Given the description of an element on the screen output the (x, y) to click on. 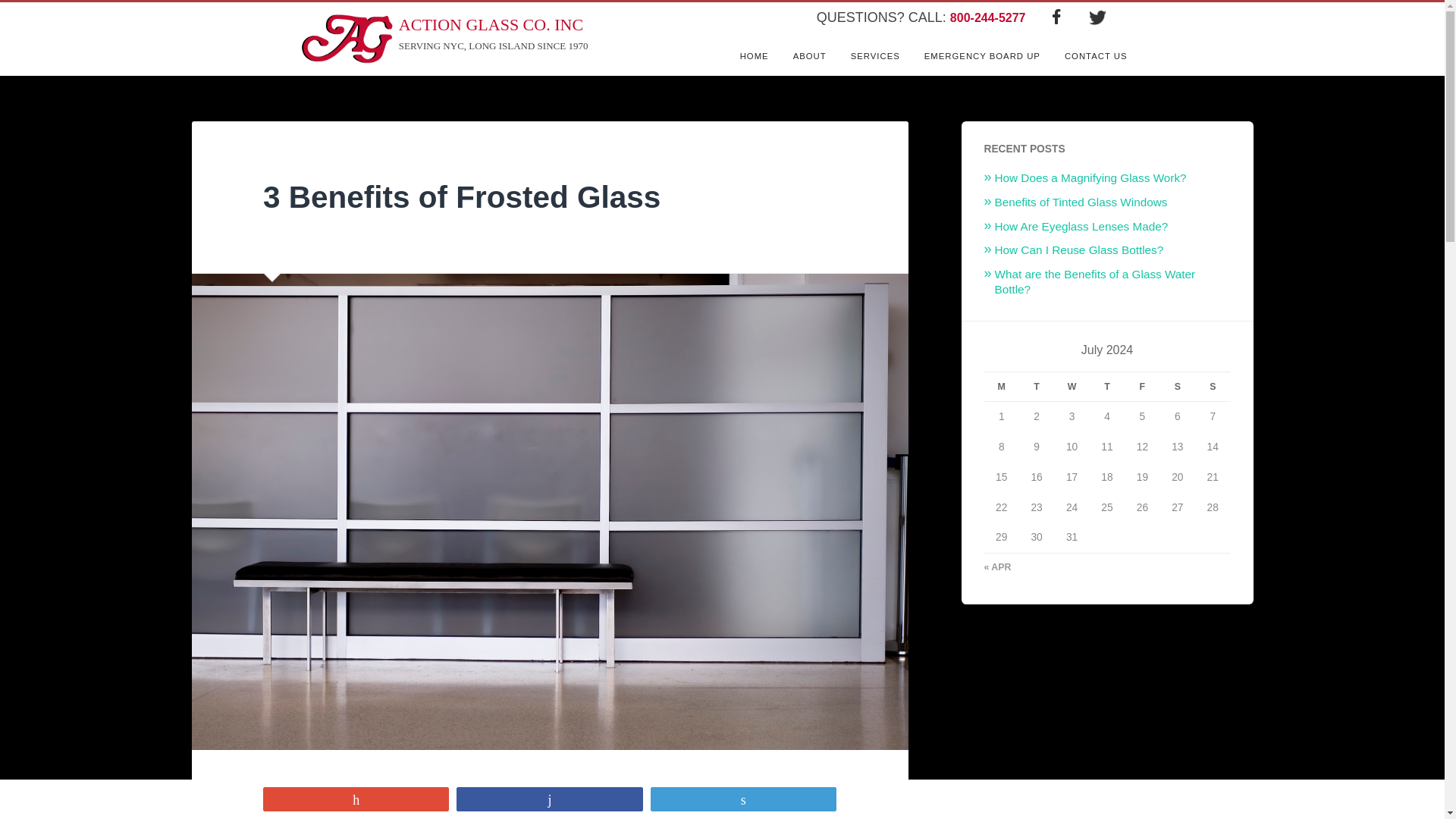
SERVICES (442, 39)
800-244-5277 (875, 55)
HOME (988, 17)
3 Benefits of Frosted Glass (754, 55)
Sunday (462, 196)
Twitter (1212, 387)
CONTACT US (1097, 11)
3 Benefits of Frosted Glass (1096, 55)
EMERGENCY BOARD UP (462, 196)
Monday (982, 55)
Friday (1001, 387)
Tuesday (1141, 387)
Facebook (1036, 387)
Thursday (1056, 11)
